Given the description of an element on the screen output the (x, y) to click on. 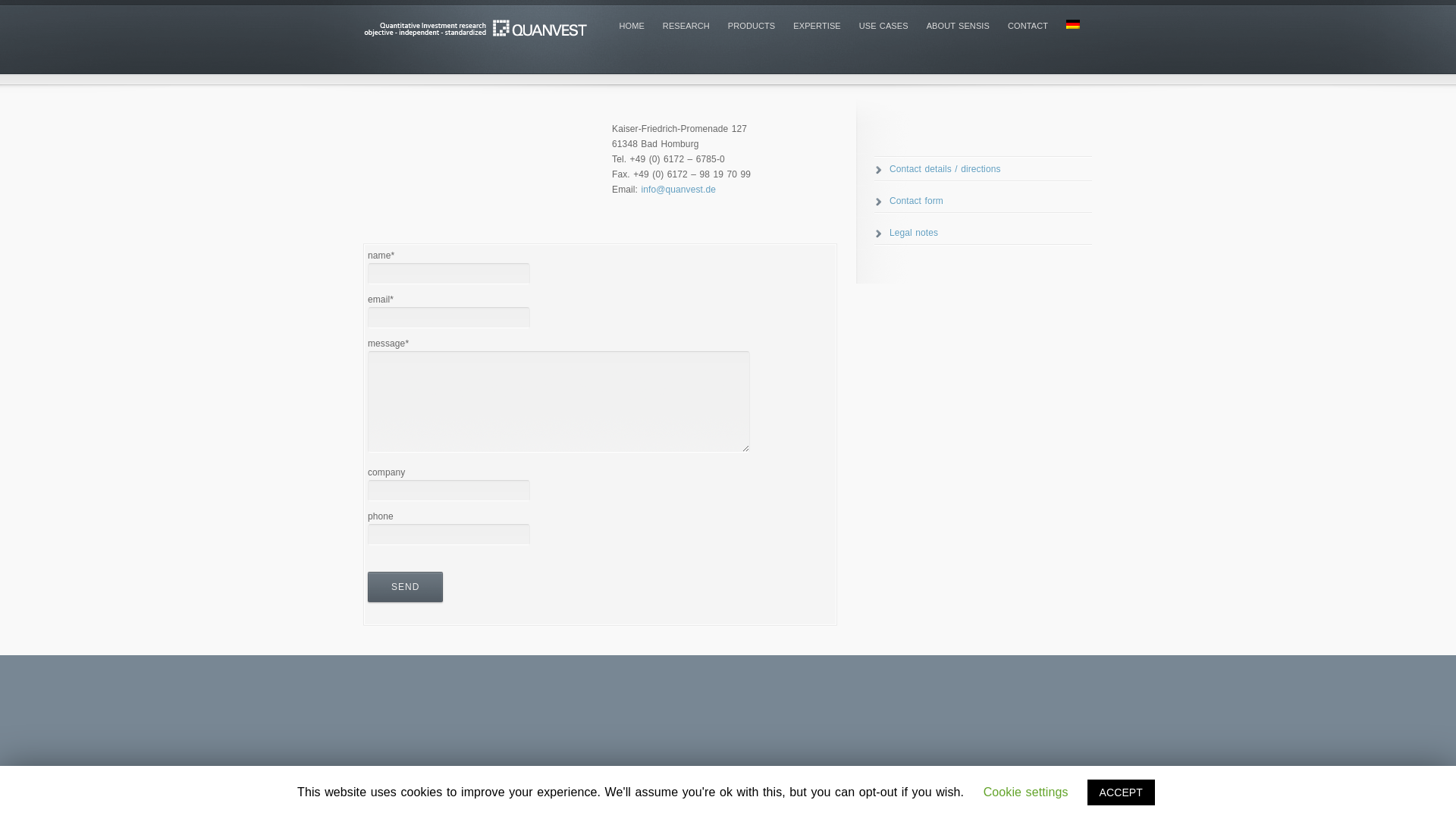
USE CASES (883, 26)
Legal notes (906, 232)
CONTACT (1027, 26)
ABOUT SENSIS (957, 26)
HOME (631, 26)
Deutsch (1072, 23)
Contact form (909, 200)
EXPERTISE (816, 26)
send (405, 586)
RESEARCH (686, 26)
